Given the description of an element on the screen output the (x, y) to click on. 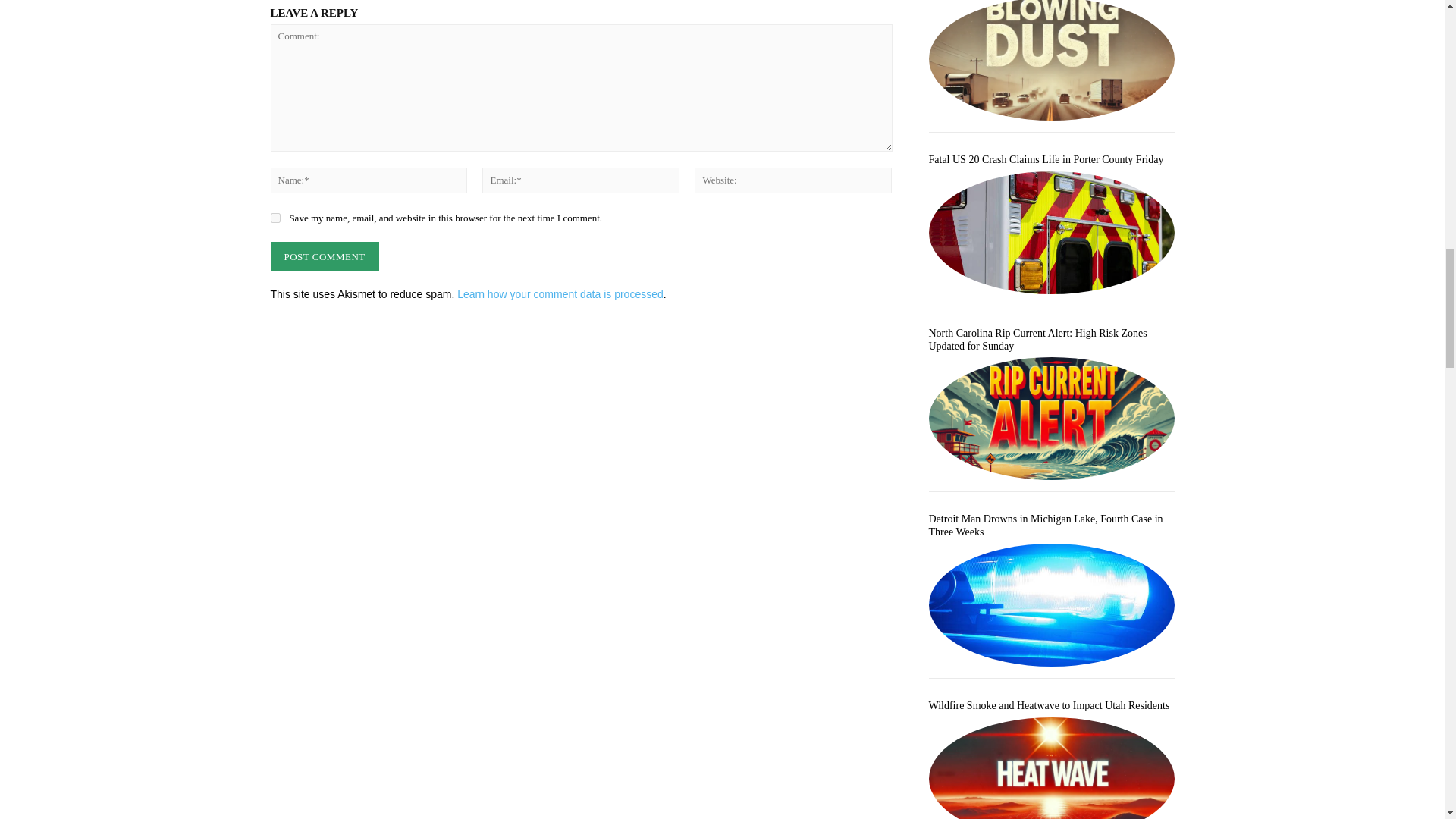
yes (274, 217)
Post Comment (323, 256)
